Given the description of an element on the screen output the (x, y) to click on. 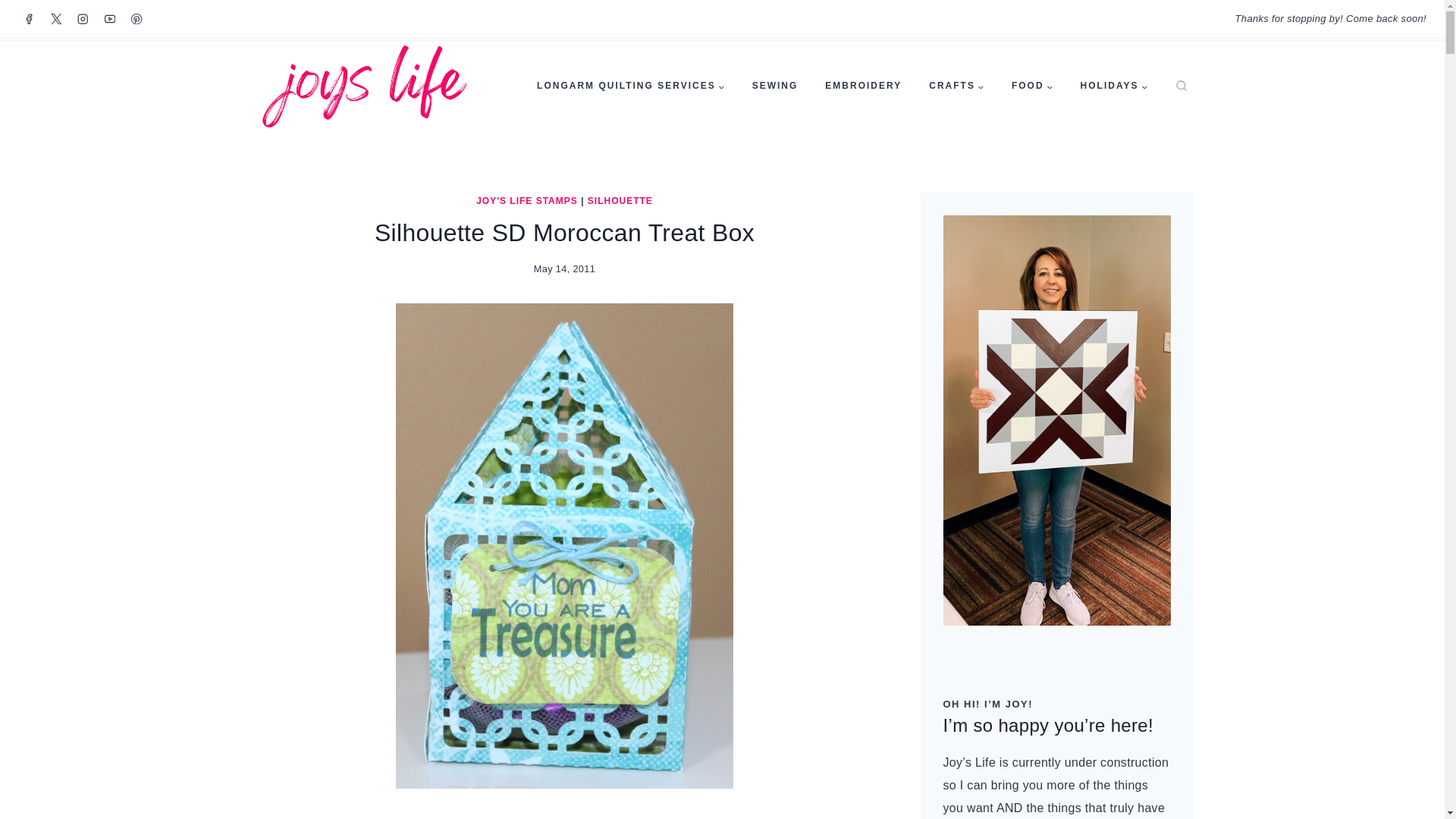
CRAFTS (956, 85)
SEWING (775, 85)
FOOD (1032, 85)
HOLIDAYS (1114, 85)
EMBROIDERY (862, 85)
LONGARM QUILTING SERVICES (630, 85)
JOY'S LIFE STAMPS (527, 200)
